Given the description of an element on the screen output the (x, y) to click on. 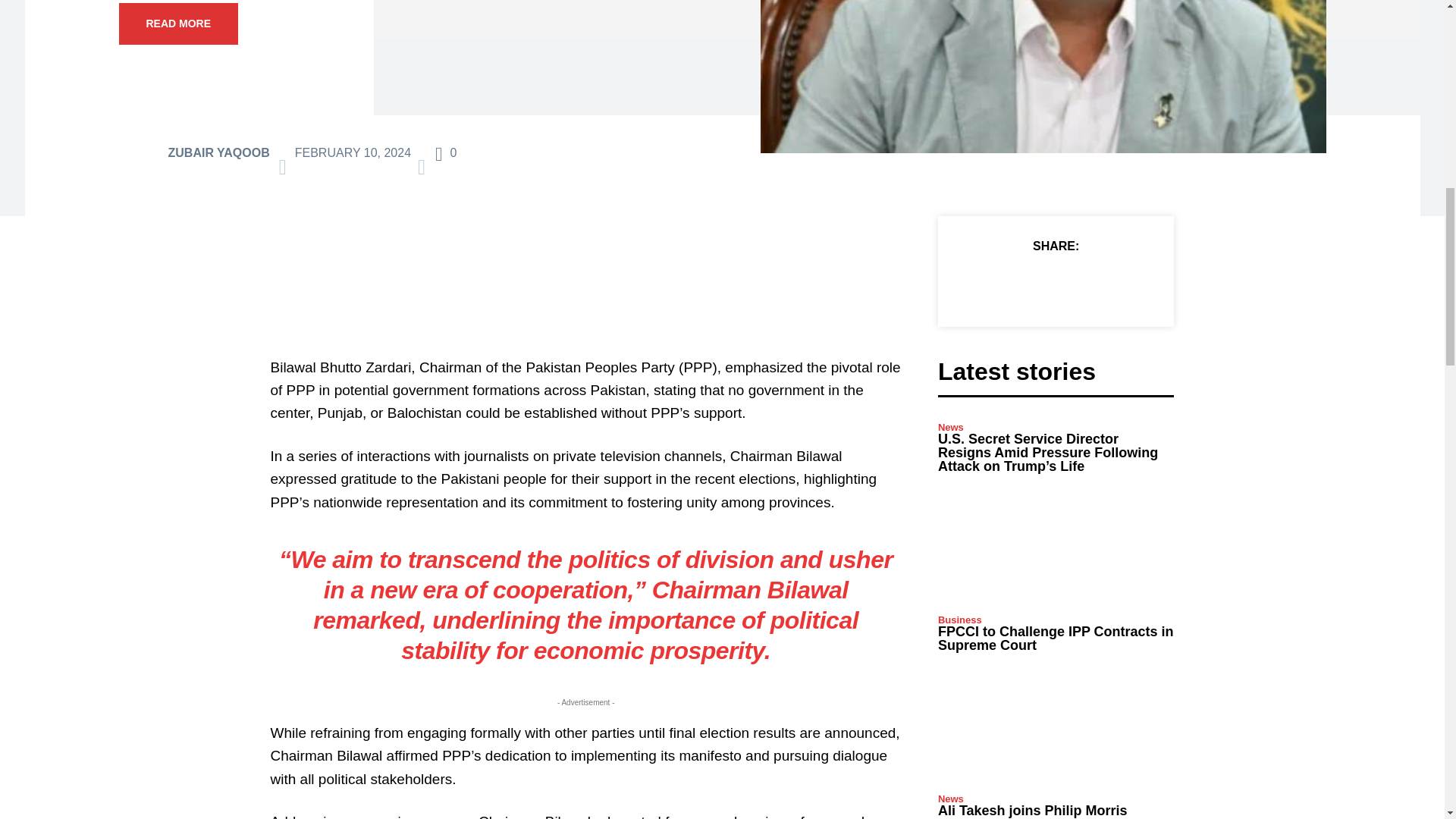
READ MORE (177, 24)
Read More (177, 24)
ZUBAIR YAQOOB (218, 152)
0 (446, 151)
Zubair Yaqoob (141, 152)
